Given the description of an element on the screen output the (x, y) to click on. 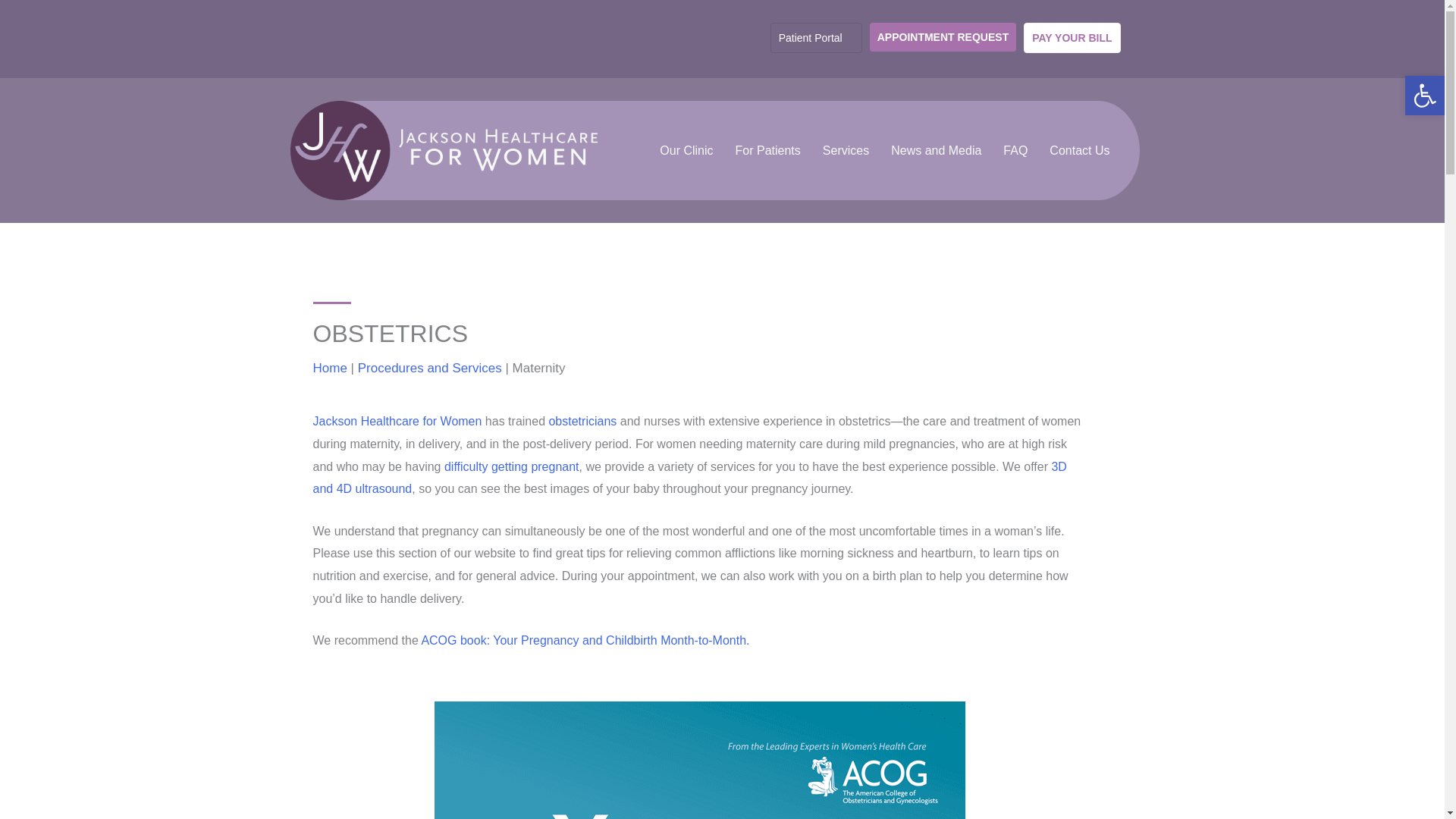
Procedures and Services (430, 368)
3D and 4D ultrasound (689, 478)
Contact Us (1079, 150)
Jackson Healthcare for Women (442, 149)
News and Media (935, 150)
Accessibility Tools (1424, 95)
APPOINTMENT REQUEST (942, 36)
Home (329, 368)
Our Clinic (686, 150)
Services (845, 150)
